Given the description of an element on the screen output the (x, y) to click on. 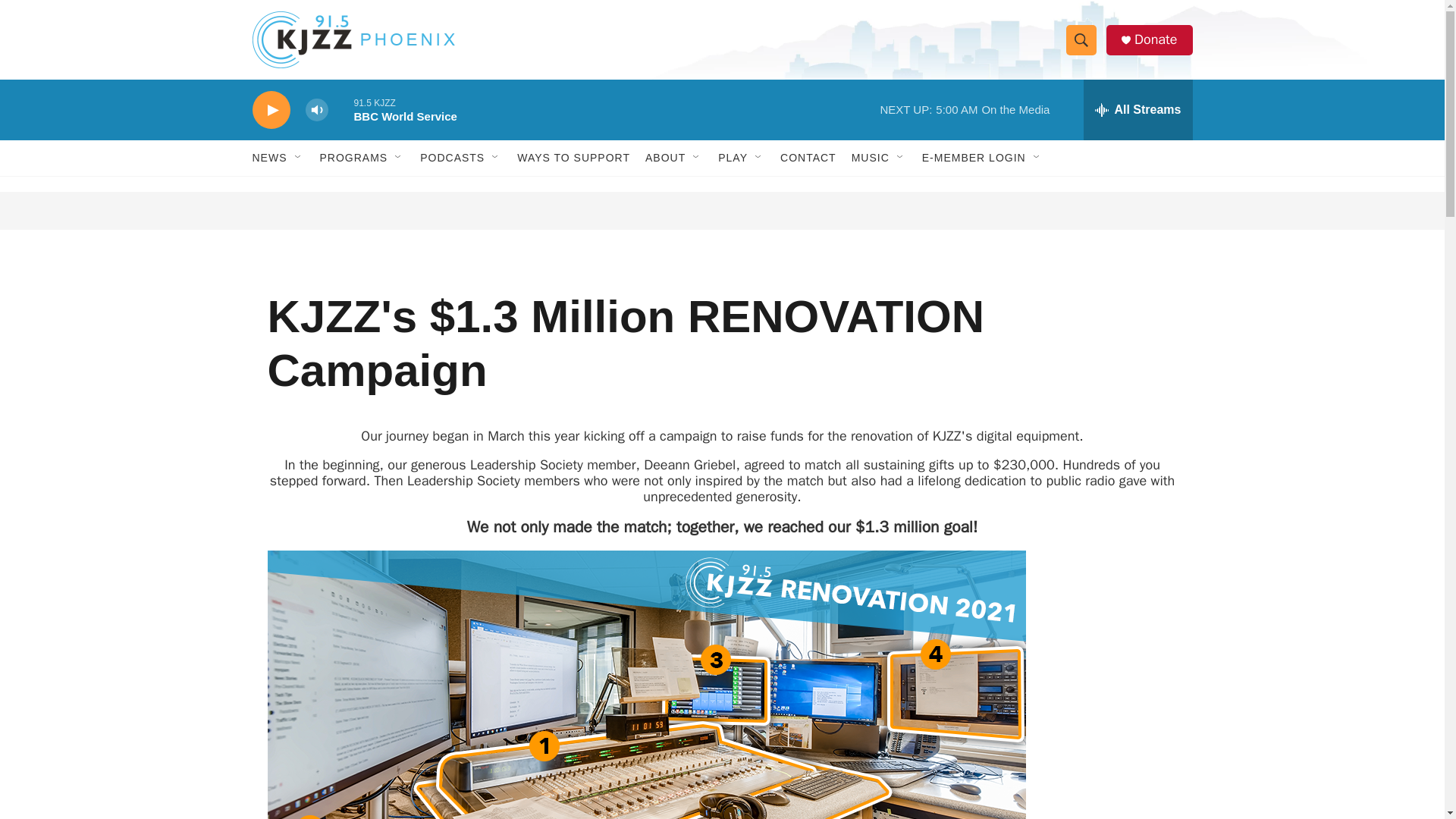
3rd party ad content (722, 210)
